Given the description of an element on the screen output the (x, y) to click on. 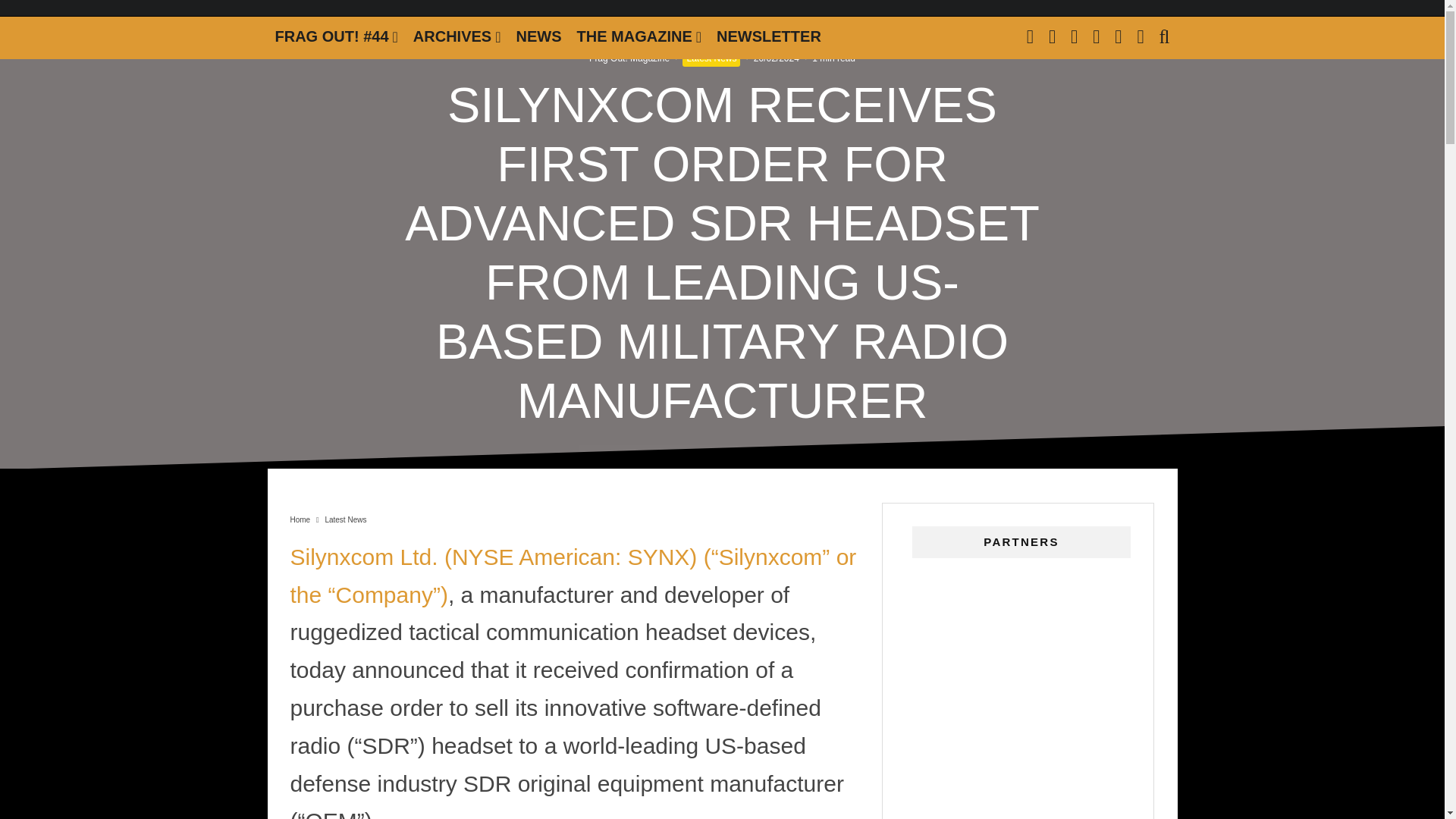
WB Group (1021, 795)
WB Group (1021, 690)
THE MAGAZINE (639, 36)
ARCHIVES (457, 36)
MAPA Tactical (1021, 815)
NEWSLETTER (768, 36)
NEWS (538, 36)
